Given the description of an element on the screen output the (x, y) to click on. 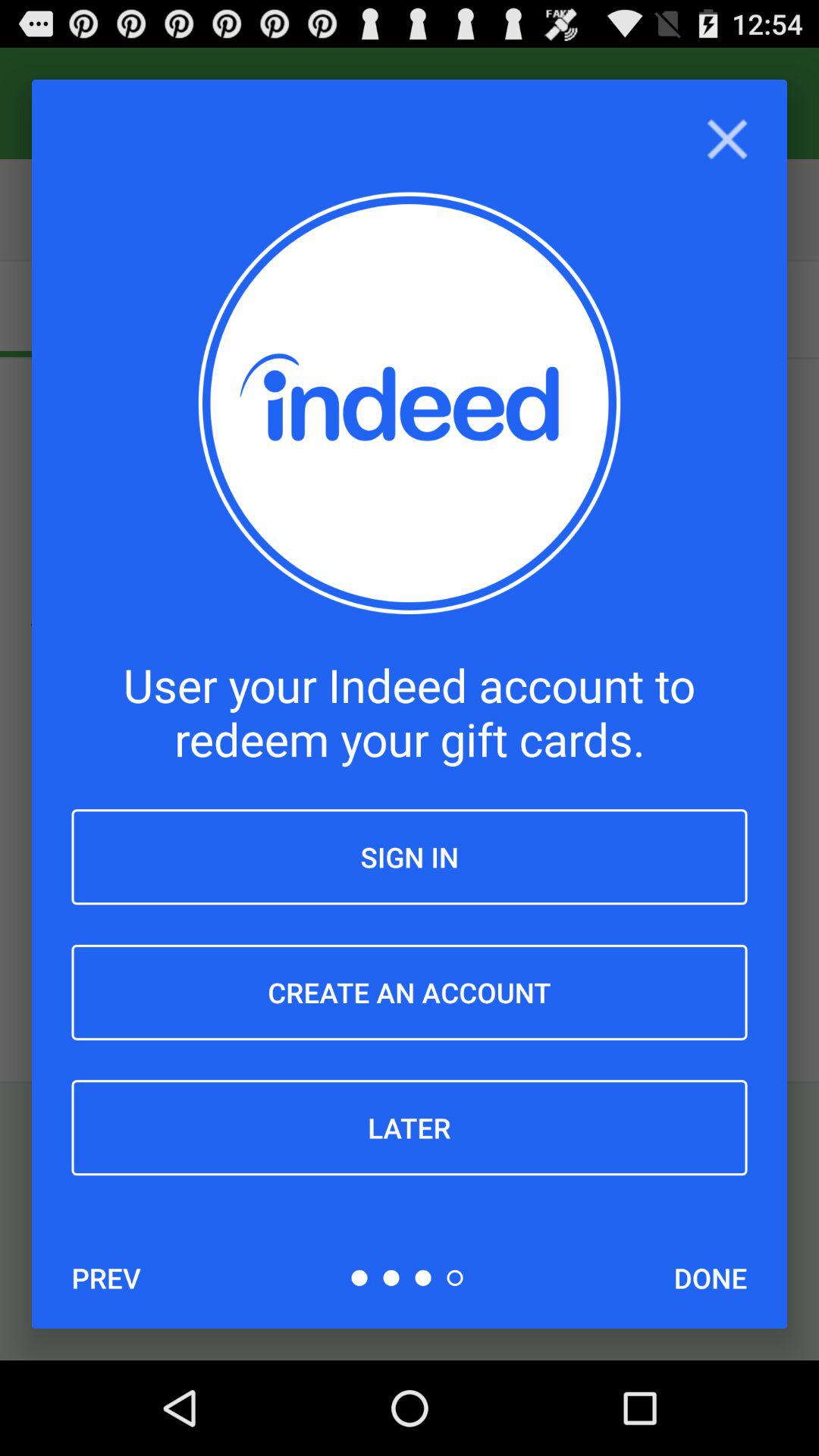
open create an account item (409, 992)
